Given the description of an element on the screen output the (x, y) to click on. 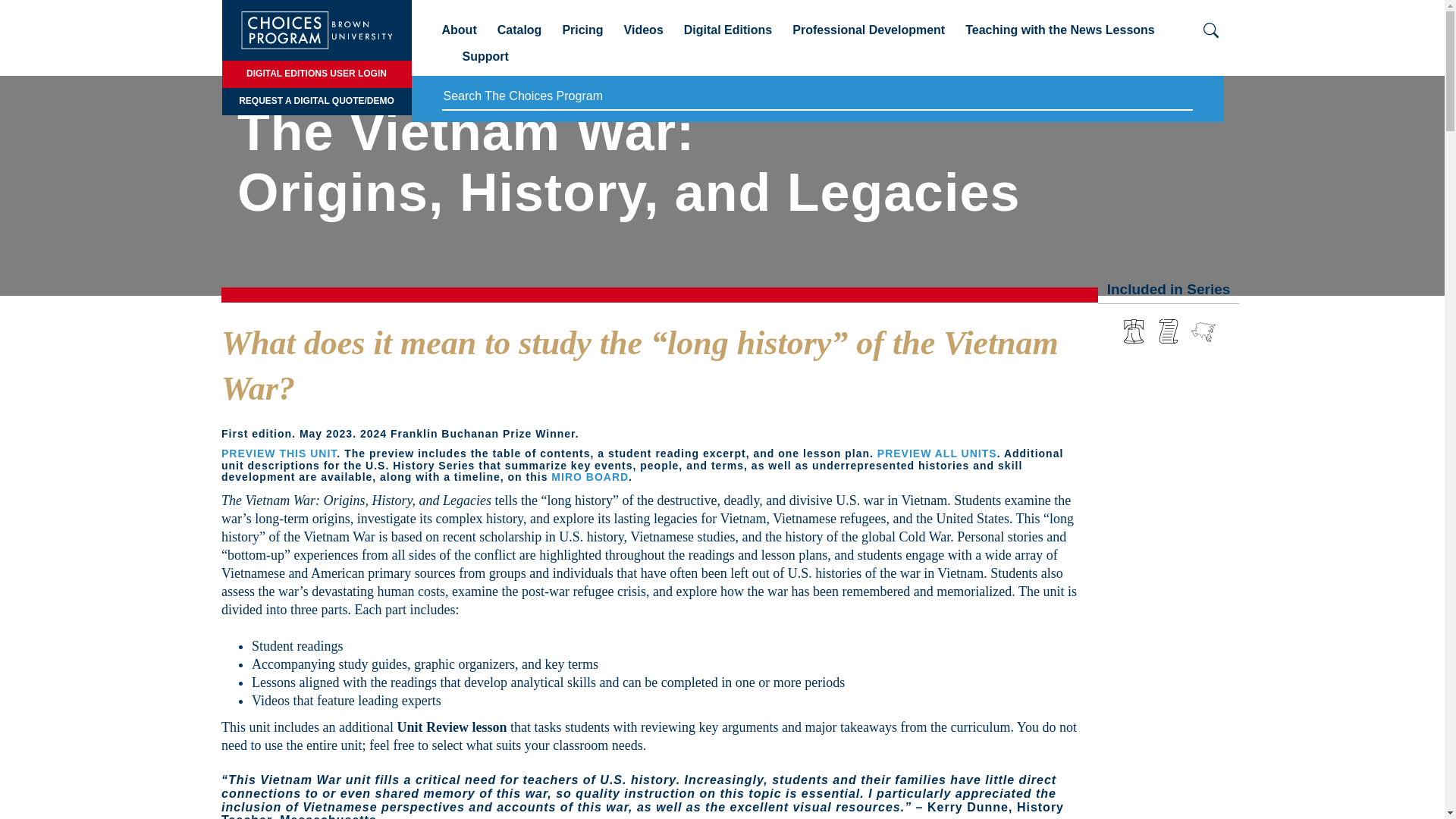
search here (816, 96)
Pricing (582, 35)
About (458, 35)
DIGITAL EDITIONS USER LOGIN (315, 73)
Catalog (519, 35)
Videos (643, 35)
Digital Editions (727, 35)
